Given the description of an element on the screen output the (x, y) to click on. 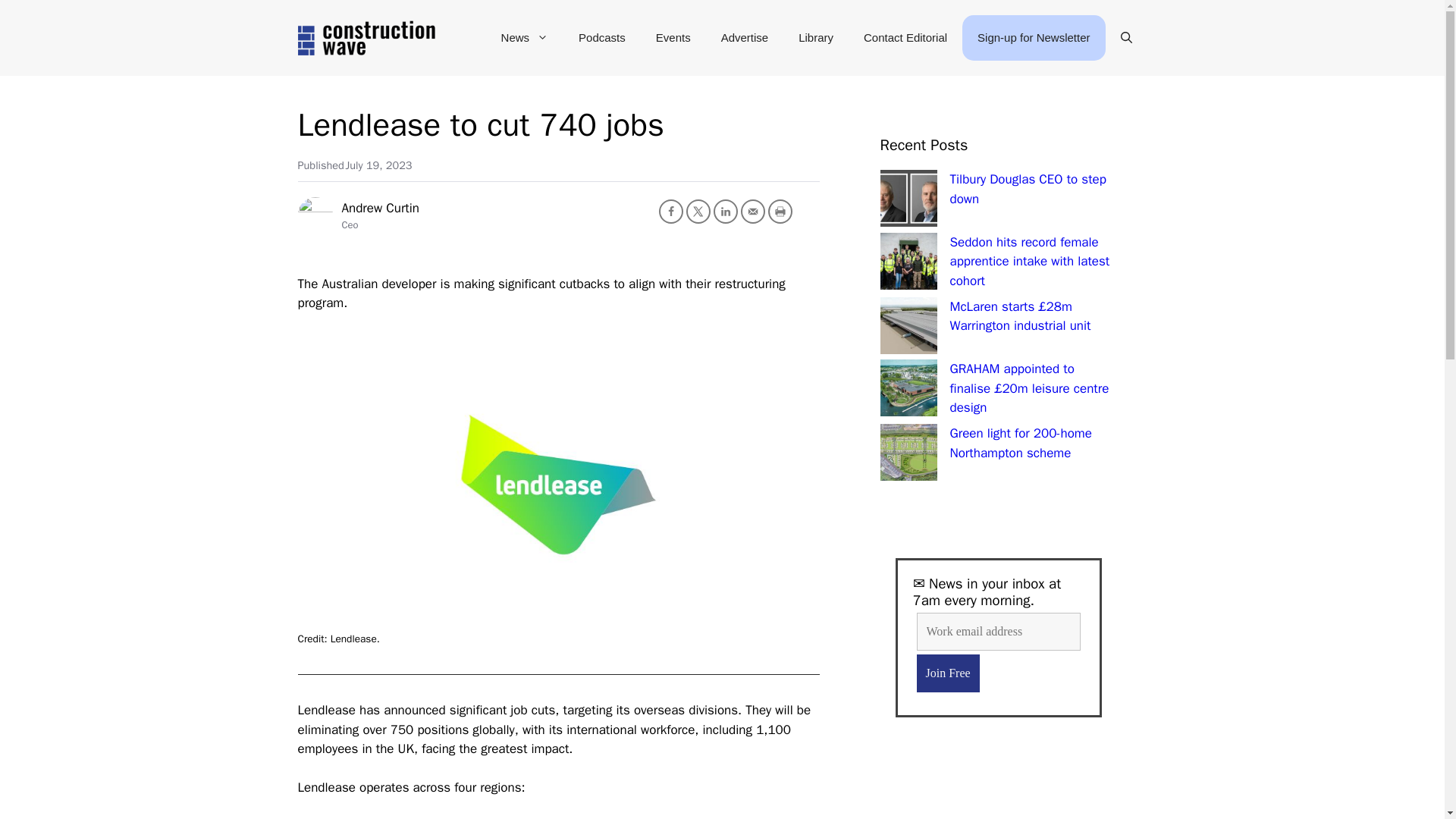
Share on X (697, 211)
Share on Facebook (670, 211)
Podcasts (601, 37)
Share on LinkedIn (725, 211)
Advertise (745, 37)
News (525, 37)
Join Free (946, 673)
Print this webpage (780, 211)
